Given the description of an element on the screen output the (x, y) to click on. 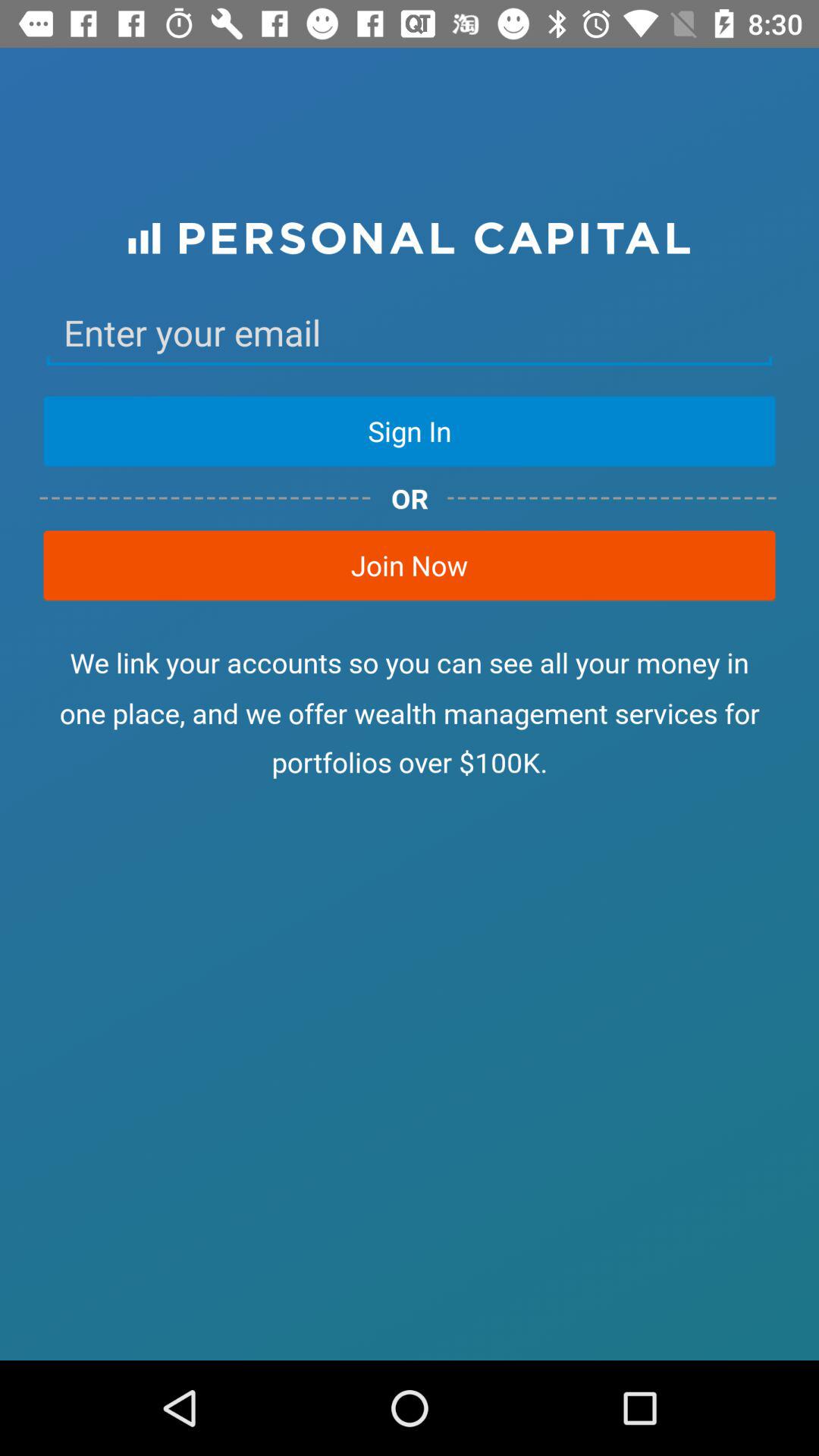
tap join now icon (409, 565)
